Given the description of an element on the screen output the (x, y) to click on. 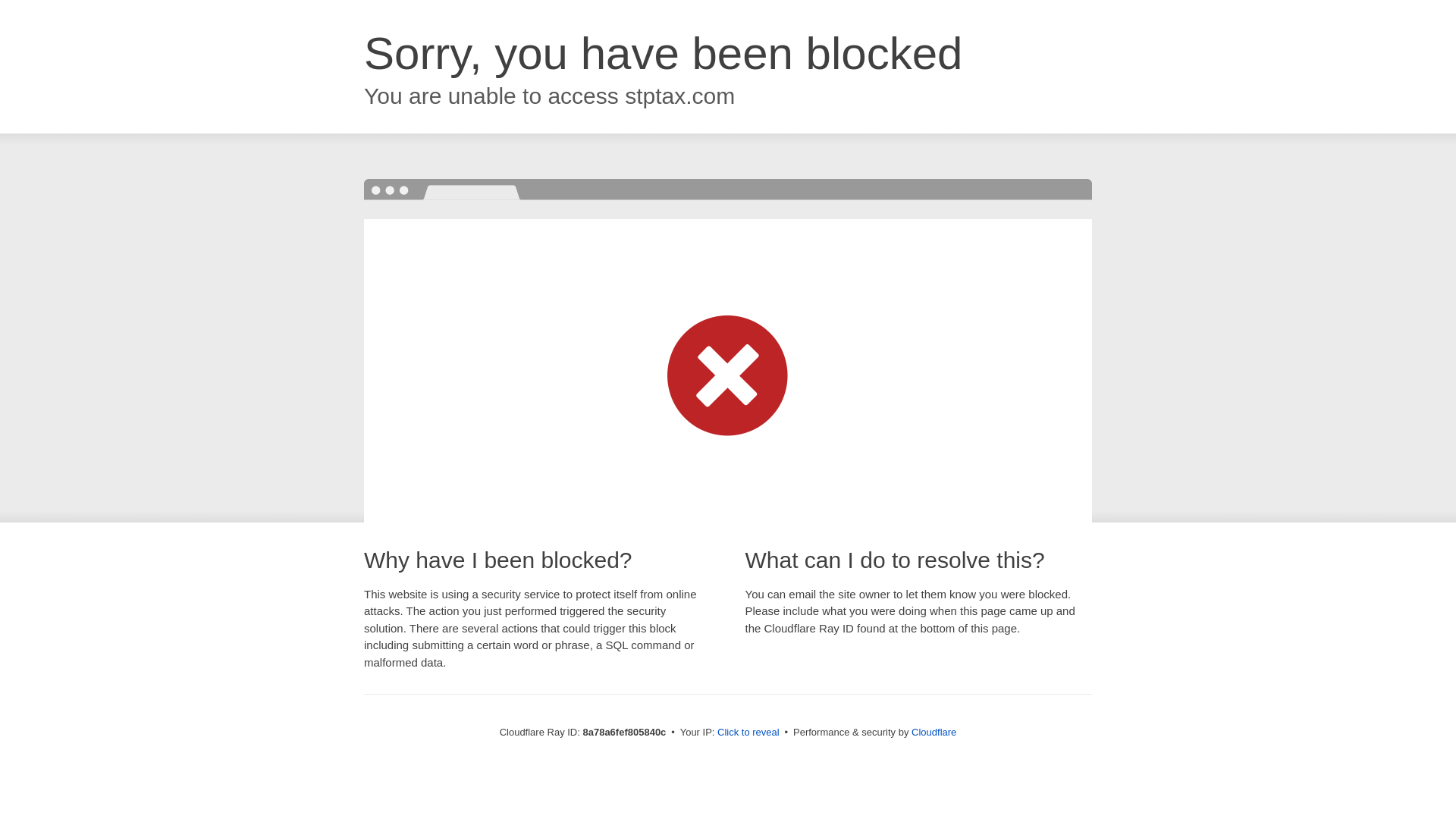
Cloudflare (933, 731)
Click to reveal (747, 732)
